Given the description of an element on the screen output the (x, y) to click on. 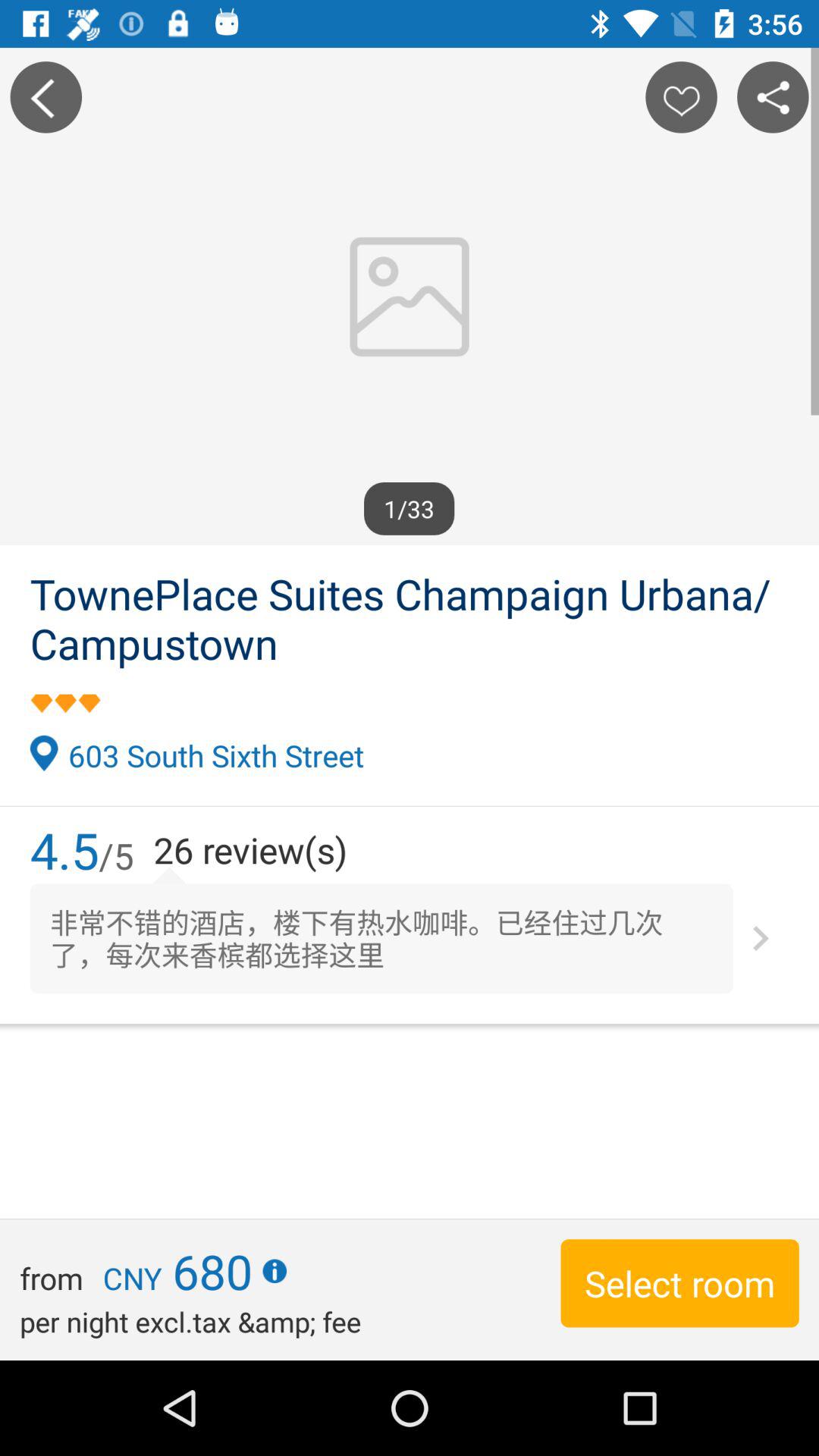
launch select room at the bottom right corner (679, 1283)
